Given the description of an element on the screen output the (x, y) to click on. 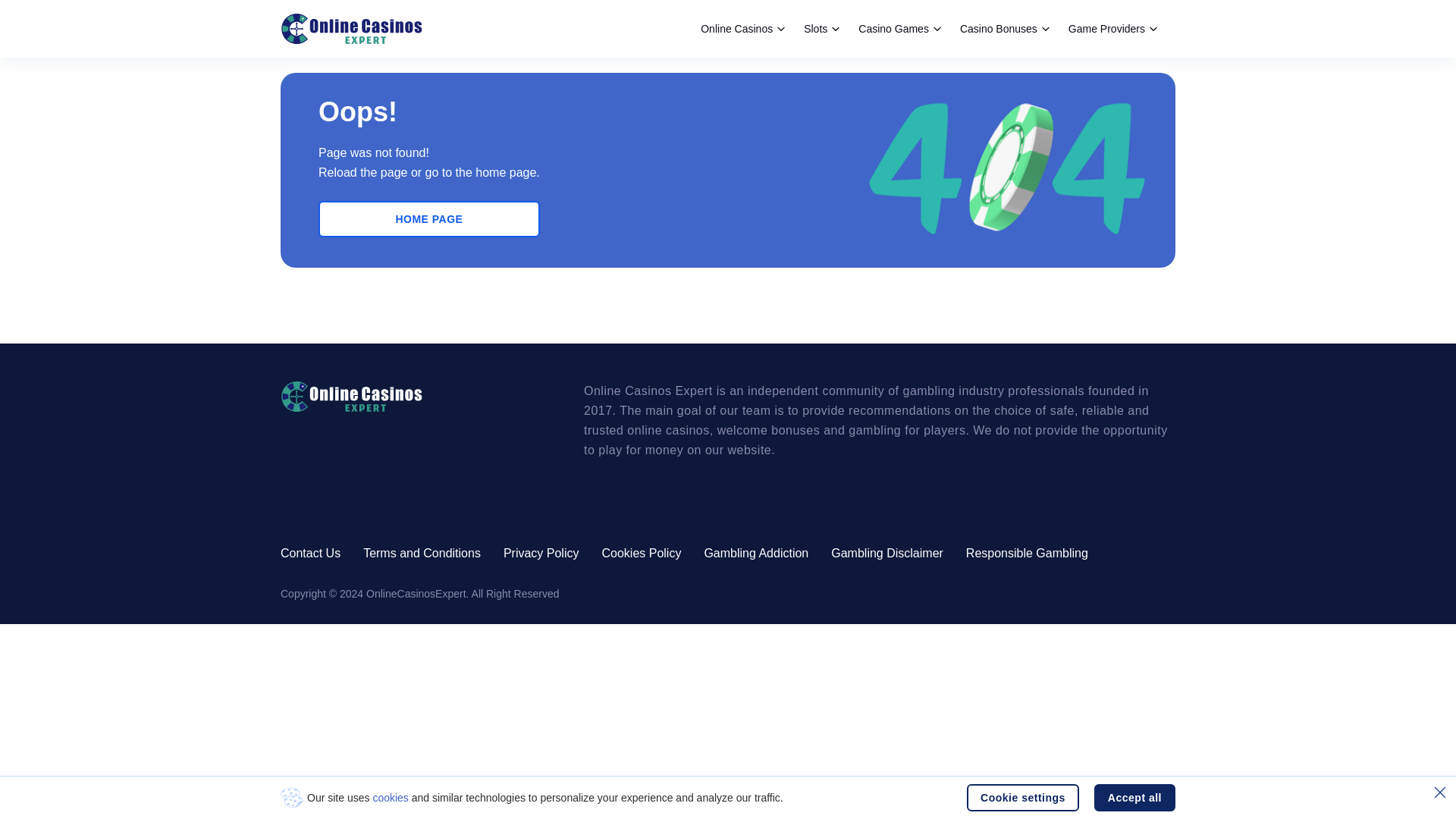
Casino Bonuses (1004, 28)
Online Casinos (742, 28)
OnlineCasinosExpert (351, 28)
Slots (821, 28)
OnlineCasinosExpert (406, 396)
Casino Games (899, 28)
